Given the description of an element on the screen output the (x, y) to click on. 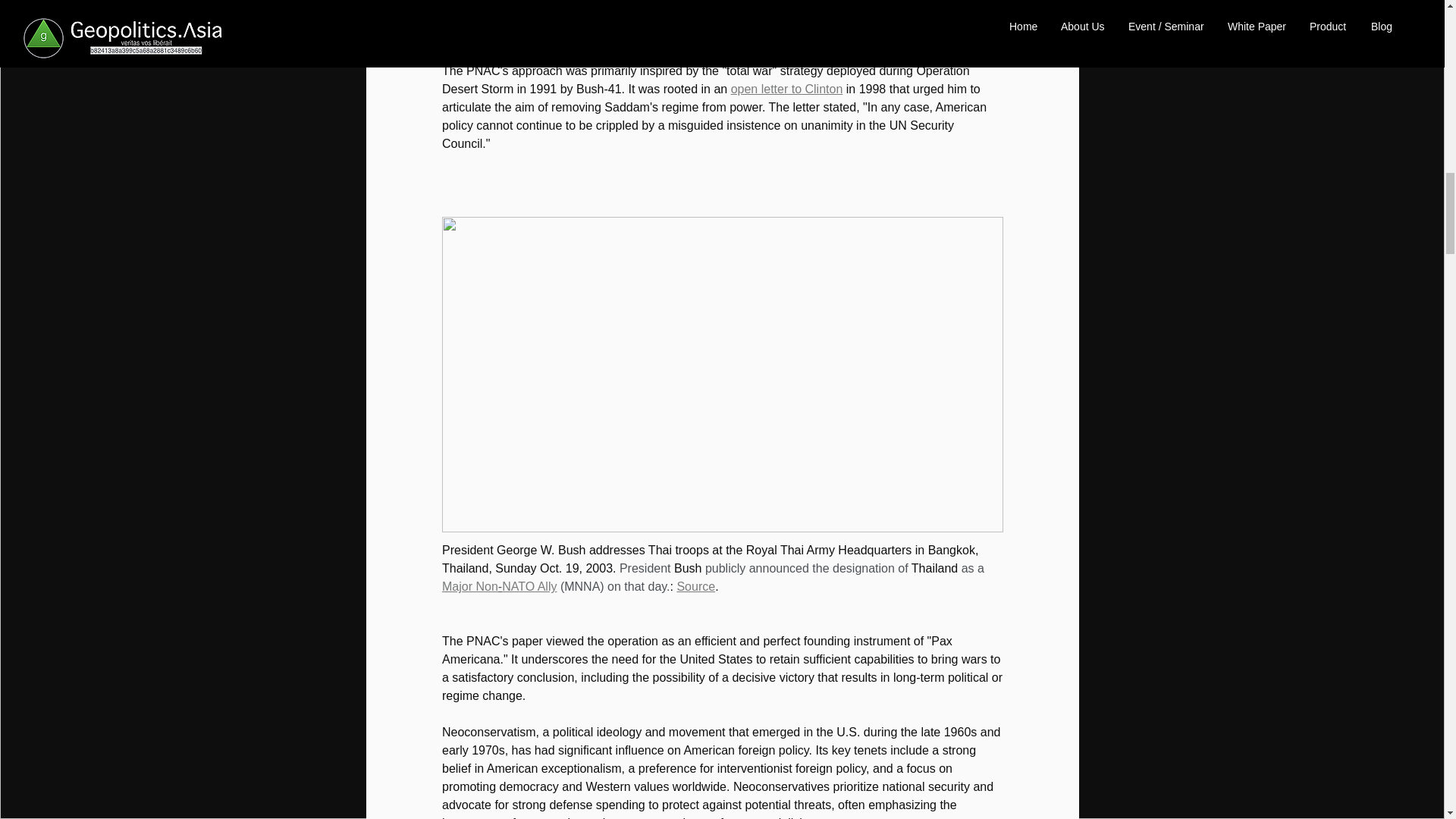
open letter to Clinton (786, 88)
NATO Ally (529, 585)
Source (695, 585)
Major Non (469, 585)
- (498, 585)
